Given the description of an element on the screen output the (x, y) to click on. 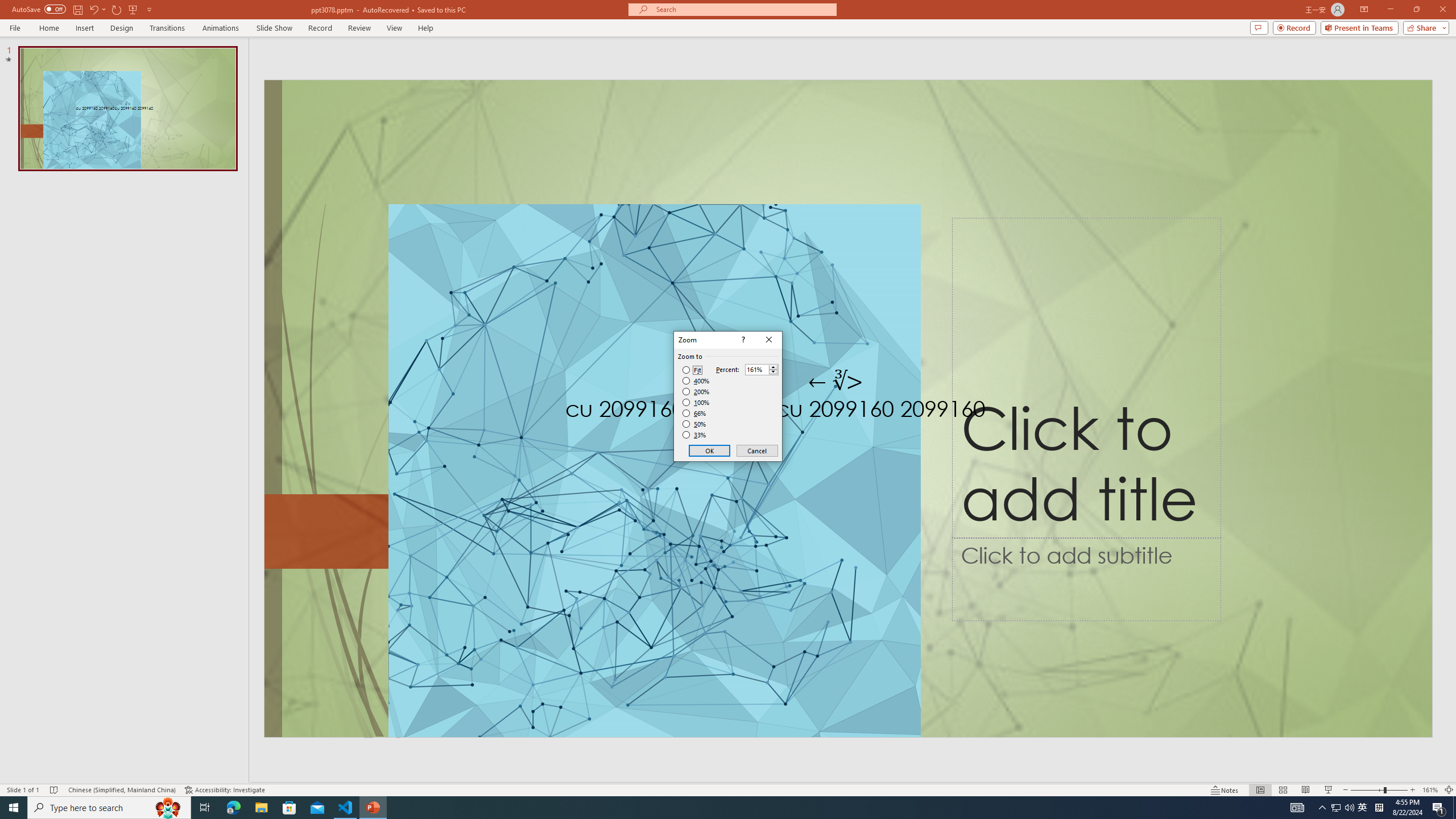
Running applications (707, 807)
66% (694, 412)
Zoom 161% (1430, 790)
50% (694, 424)
Percent (756, 369)
